Given the description of an element on the screen output the (x, y) to click on. 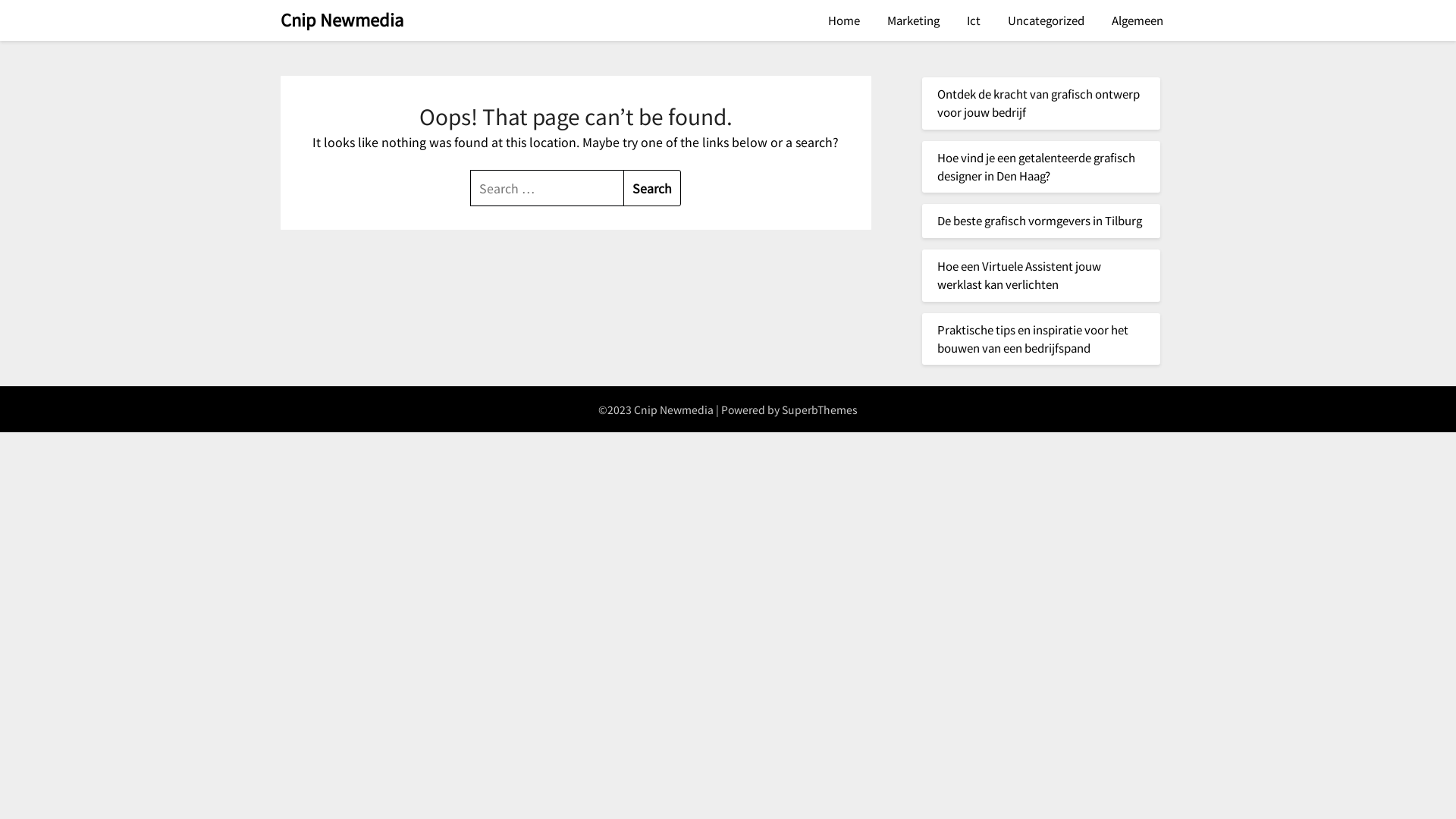
De beste grafisch vormgevers in Tilburg Element type: text (1039, 220)
Hoe een Virtuele Assistent jouw werklast kan verlichten Element type: text (1019, 274)
Ict Element type: text (973, 20)
SuperbThemes Element type: text (819, 409)
Search Element type: text (651, 187)
Uncategorized Element type: text (1045, 20)
Algemeen Element type: text (1137, 20)
Hoe vind je een getalenteerde grafisch designer in Den Haag? Element type: text (1036, 166)
Home Element type: text (843, 20)
Cnip Newmedia Element type: text (341, 19)
Marketing Element type: text (913, 20)
Ontdek de kracht van grafisch ontwerp voor jouw bedrijf Element type: text (1038, 102)
